Given the description of an element on the screen output the (x, y) to click on. 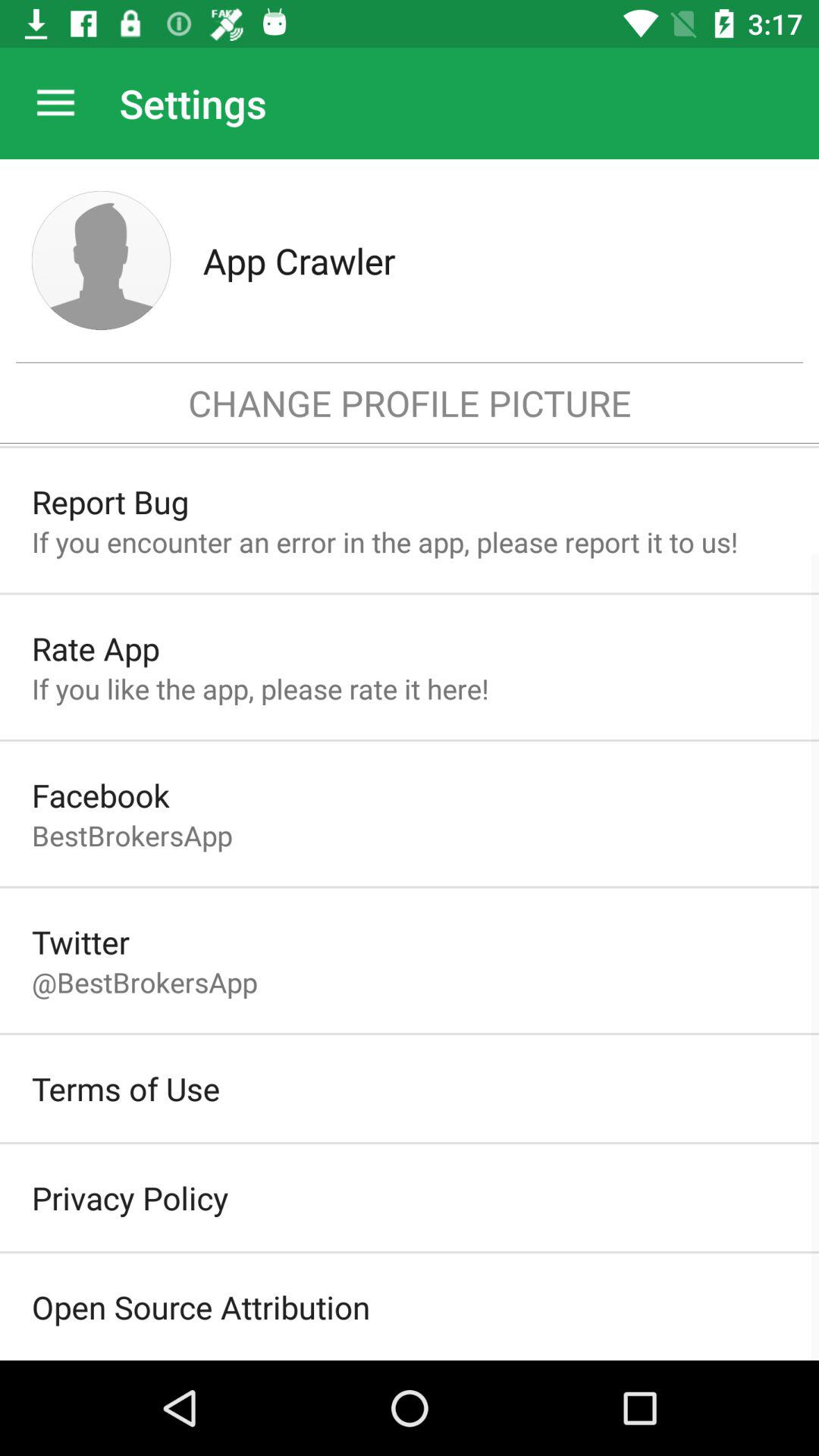
turn off the icon to the left of settings icon (55, 103)
